Given the description of an element on the screen output the (x, y) to click on. 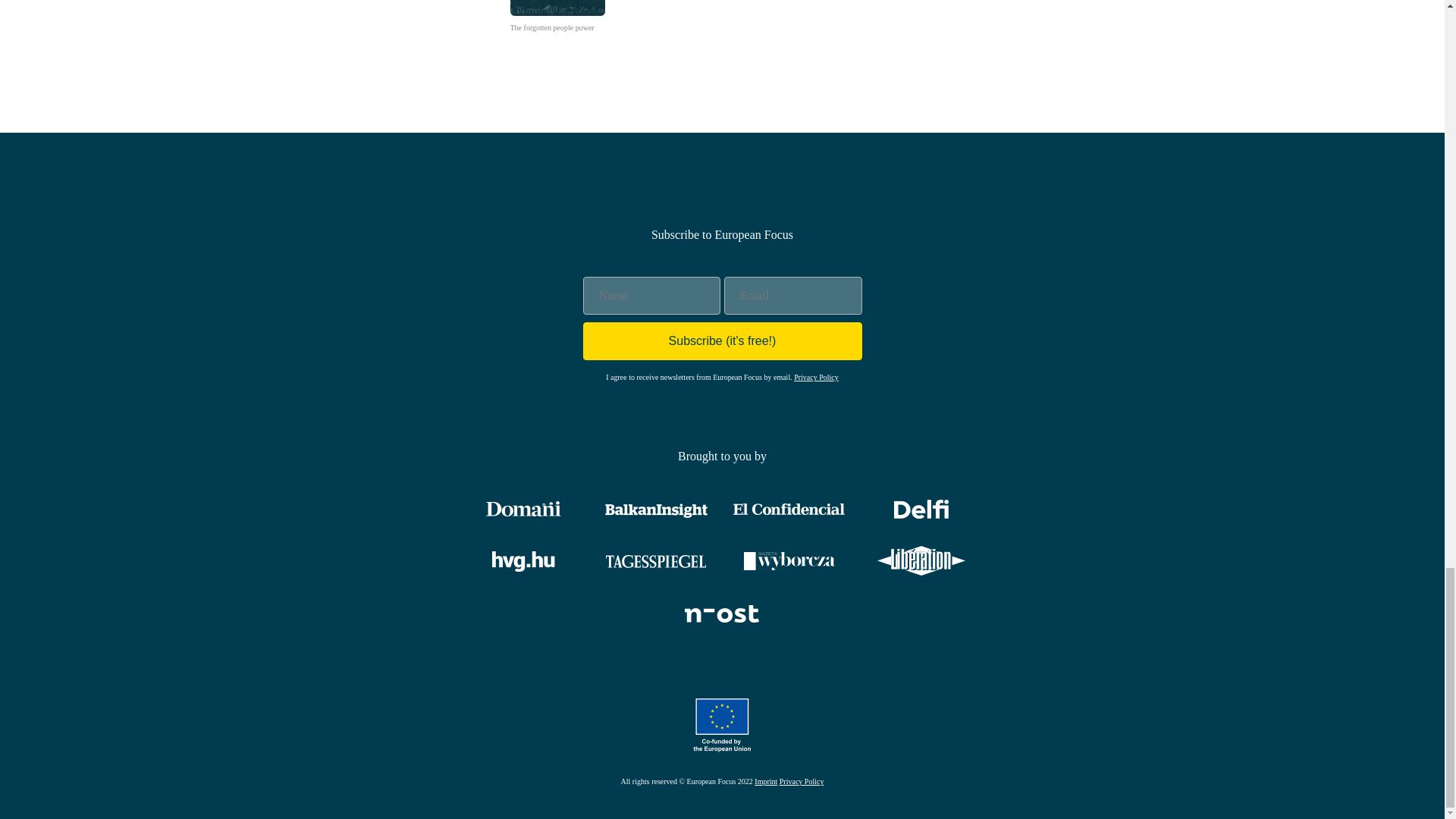
Privacy Policy (815, 377)
Imprint (765, 781)
Privacy Policy (556, 17)
